Given the description of an element on the screen output the (x, y) to click on. 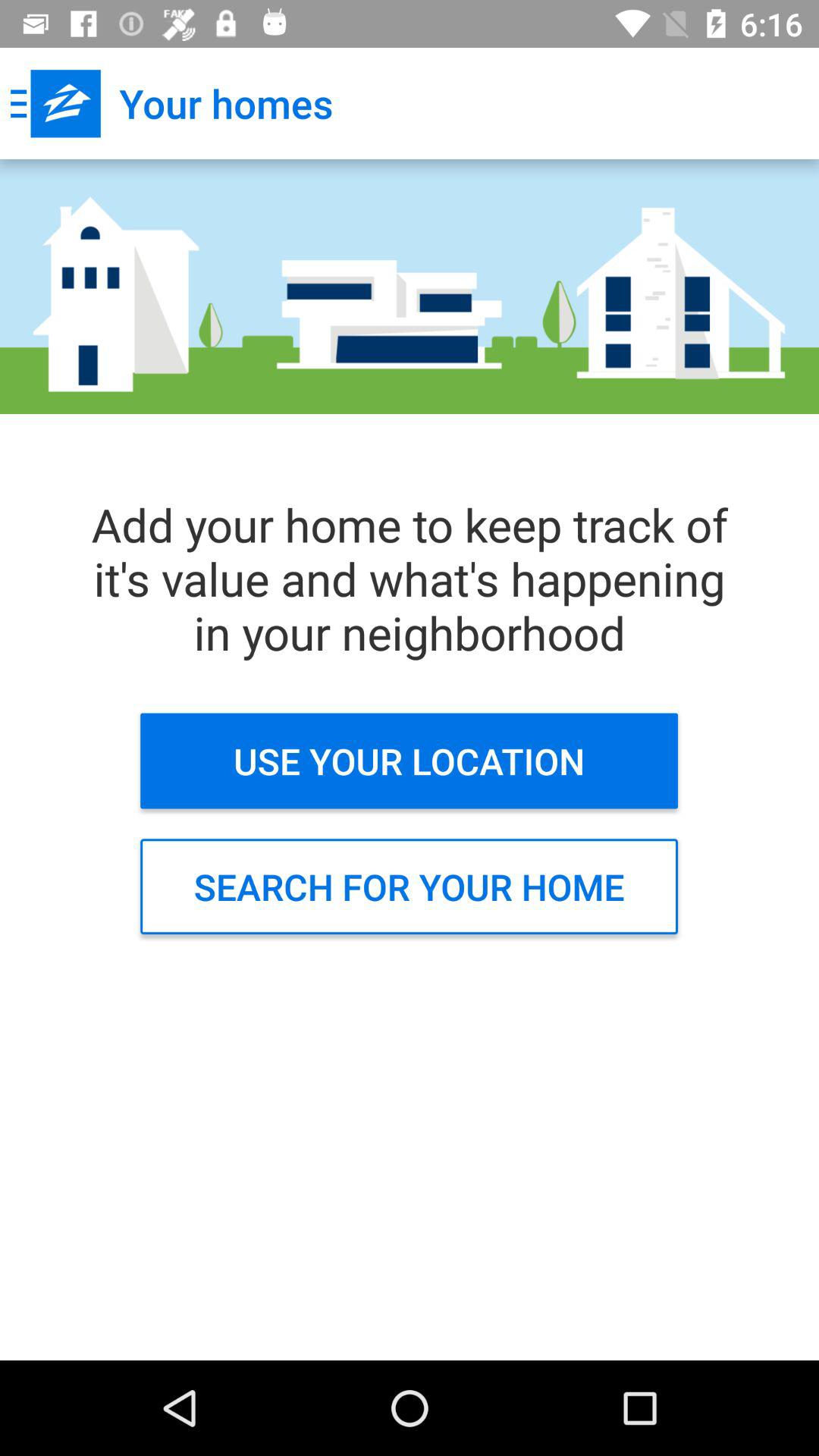
click the use your location (408, 760)
